Given the description of an element on the screen output the (x, y) to click on. 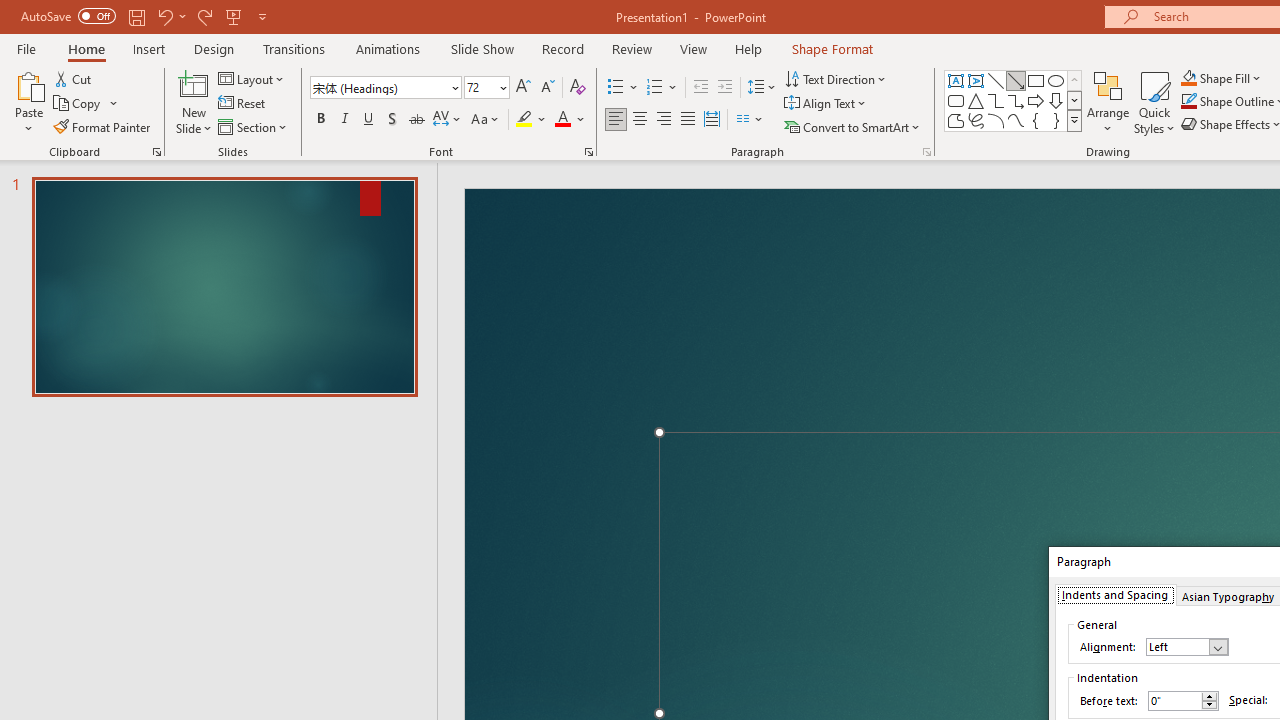
Indents and Spacing (1114, 593)
